Given the description of an element on the screen output the (x, y) to click on. 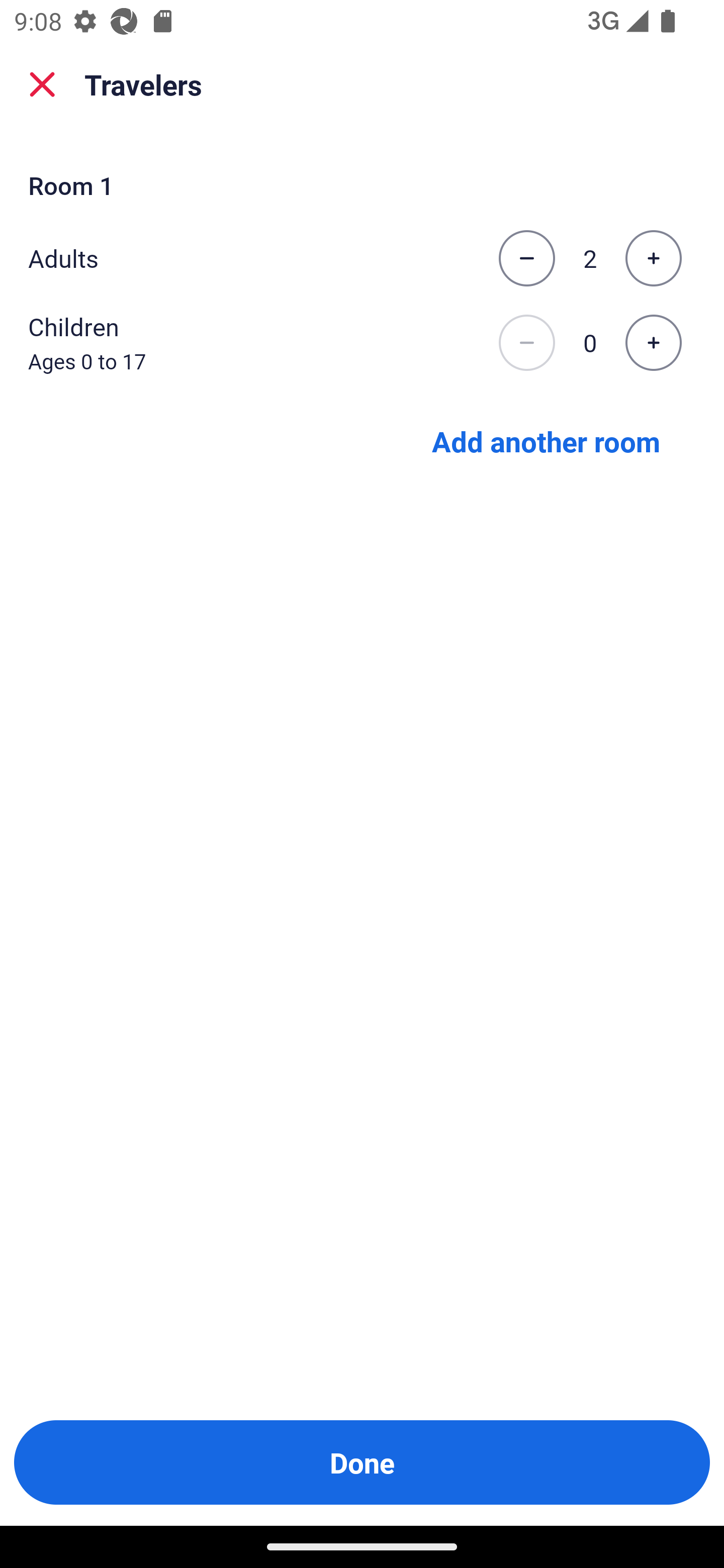
close (42, 84)
Decrease the number of adults (526, 258)
Increase the number of adults (653, 258)
Decrease the number of children (526, 343)
Increase the number of children (653, 343)
Add another room (545, 440)
Done (361, 1462)
